Given the description of an element on the screen output the (x, y) to click on. 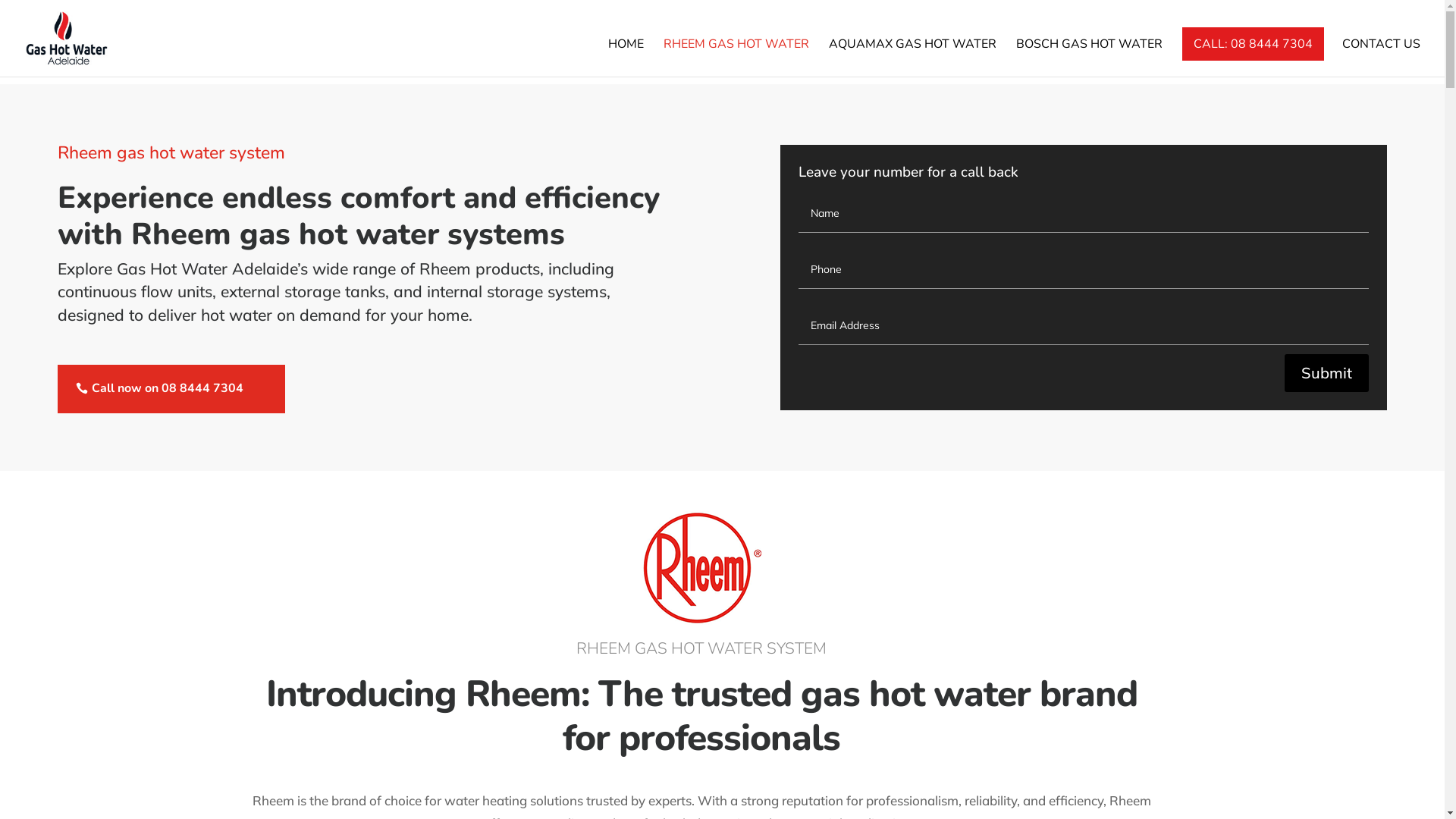
RHEEM GAS HOT WATER Element type: text (736, 57)
CALL: 08 8444 7304 Element type: text (1253, 43)
Web Analytics Element type: hover (30, 10)
Call now on 08 8444 7304 Element type: text (171, 388)
AQUAMAX GAS HOT WATER Element type: text (912, 57)
Submit Element type: text (1326, 373)
HOME Element type: text (625, 57)
BOSCH GAS HOT WATER Element type: text (1089, 57)
rheem-gas-hot-water-systems Element type: hover (701, 567)
CONTACT US Element type: text (1381, 57)
